Given the description of an element on the screen output the (x, y) to click on. 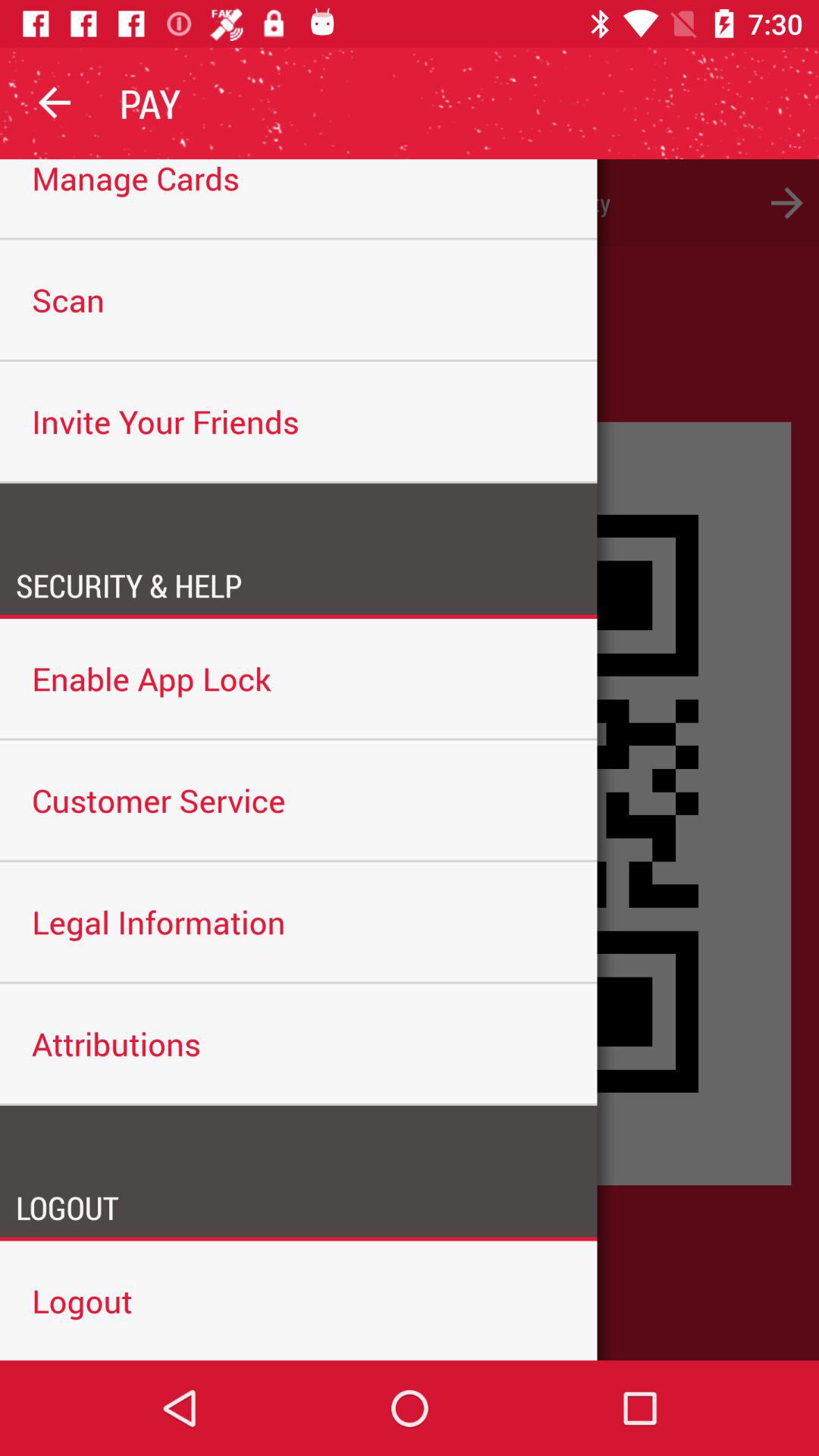
jump until customer service item (298, 799)
